Given the description of an element on the screen output the (x, y) to click on. 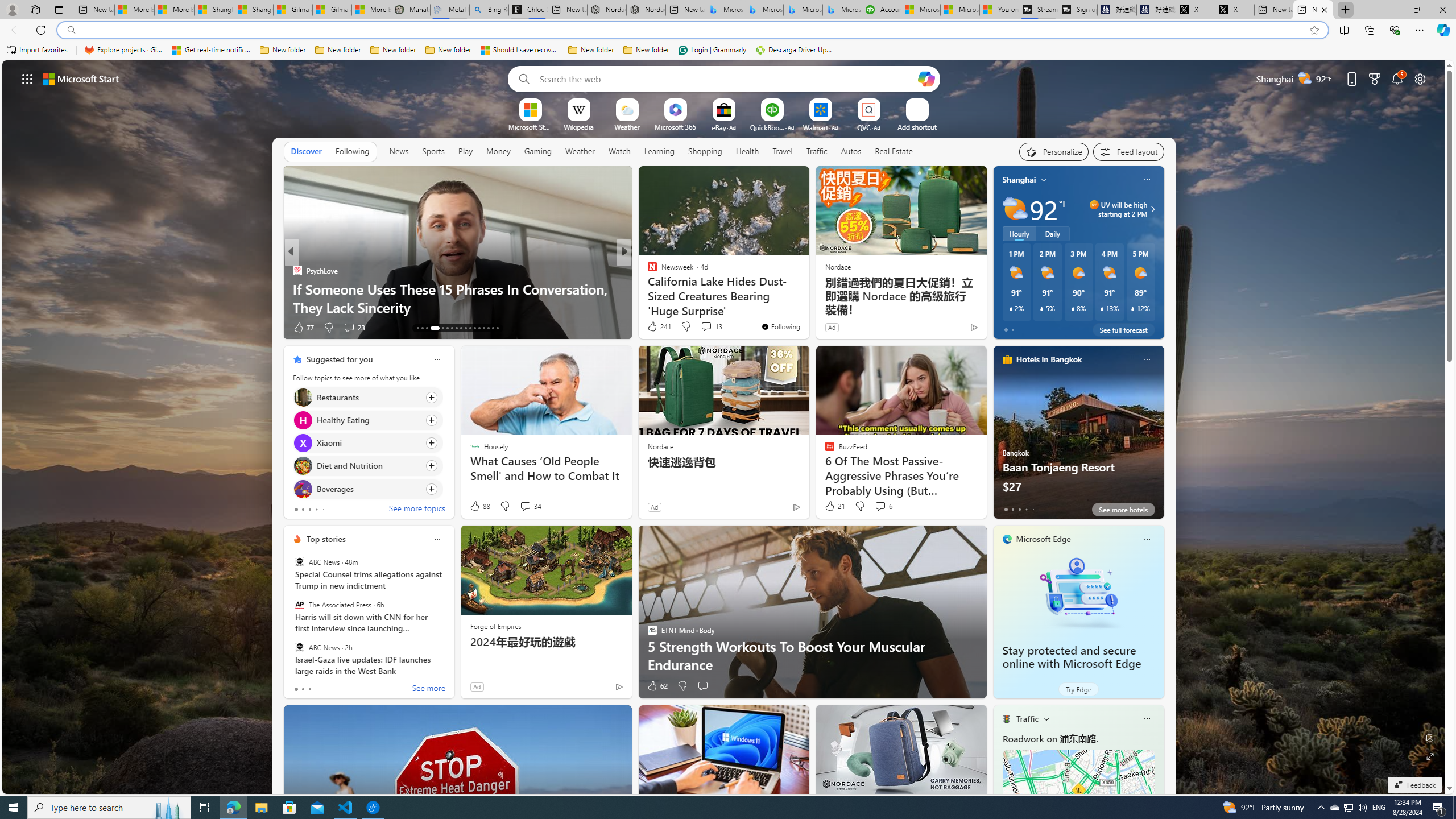
AutomationID: tab-16 (432, 328)
See more topics (416, 509)
Wikipedia (578, 126)
Partly sunny (1014, 208)
Click to follow topic Diet and Nutrition (367, 465)
Hotels in Bangkok (1048, 359)
Forge of Empires (495, 625)
Microsoft Edge (1043, 538)
209 Like (304, 327)
View comments 102 Comment (352, 327)
Try Edge (1078, 689)
